Given the description of an element on the screen output the (x, y) to click on. 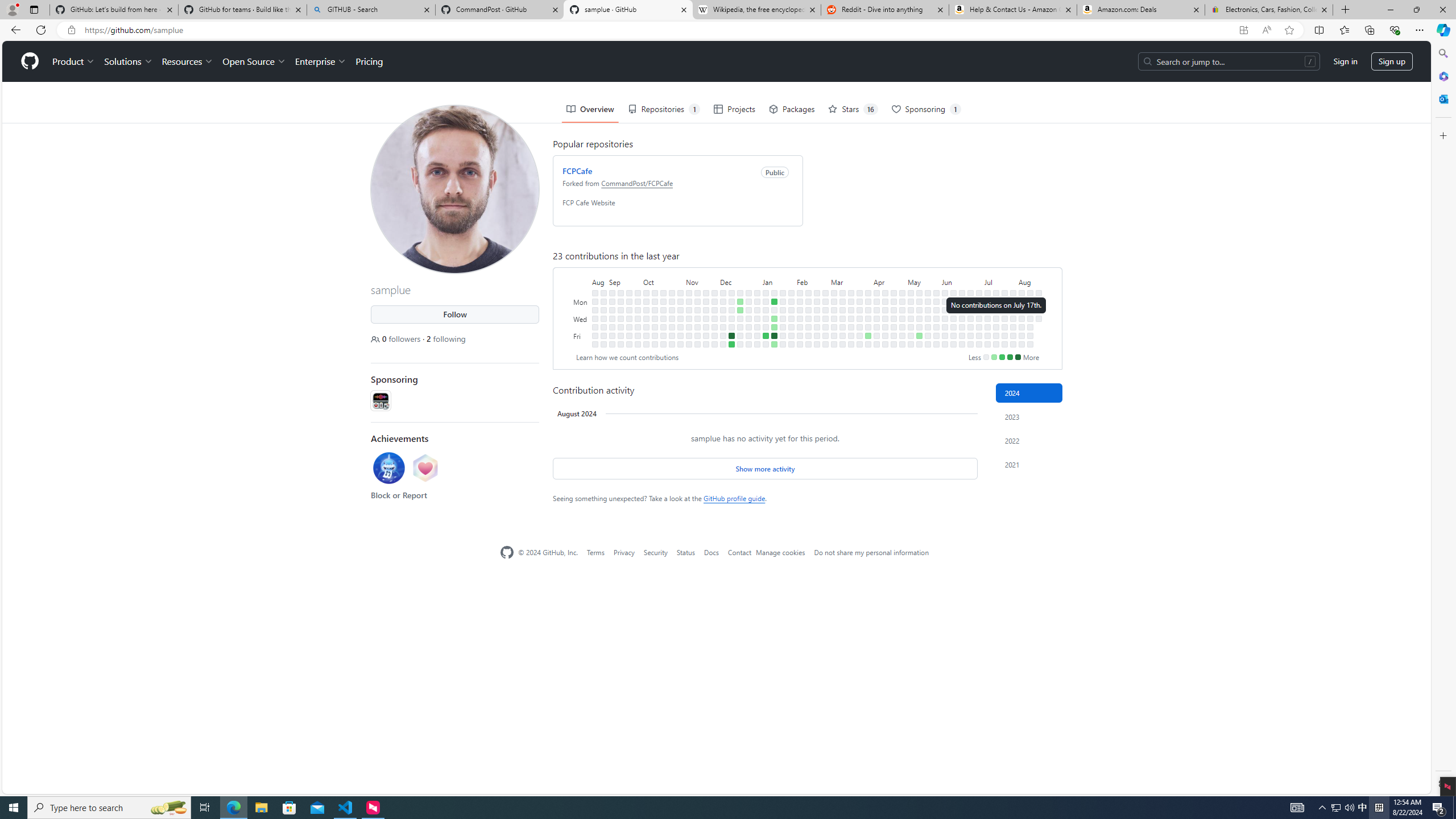
Open Source (254, 60)
No contributions on February 25th. (825, 292)
No contributions on October 19th. (663, 326)
No contributions on April 3rd. (867, 318)
No contributions on November 25th. (706, 343)
No contributions on November 7th. (688, 309)
No contributions on March 7th. (834, 326)
No contributions on April 21st. (893, 292)
No contributions on April 16th. (885, 309)
No contributions on August 1st. (1013, 326)
No contributions on March 27th. (859, 318)
No contributions on July 27th. (1004, 343)
No contributions on February 21st. (816, 318)
No contributions on March 12th. (842, 309)
No contributions on December 21st. (740, 326)
